Given the description of an element on the screen output the (x, y) to click on. 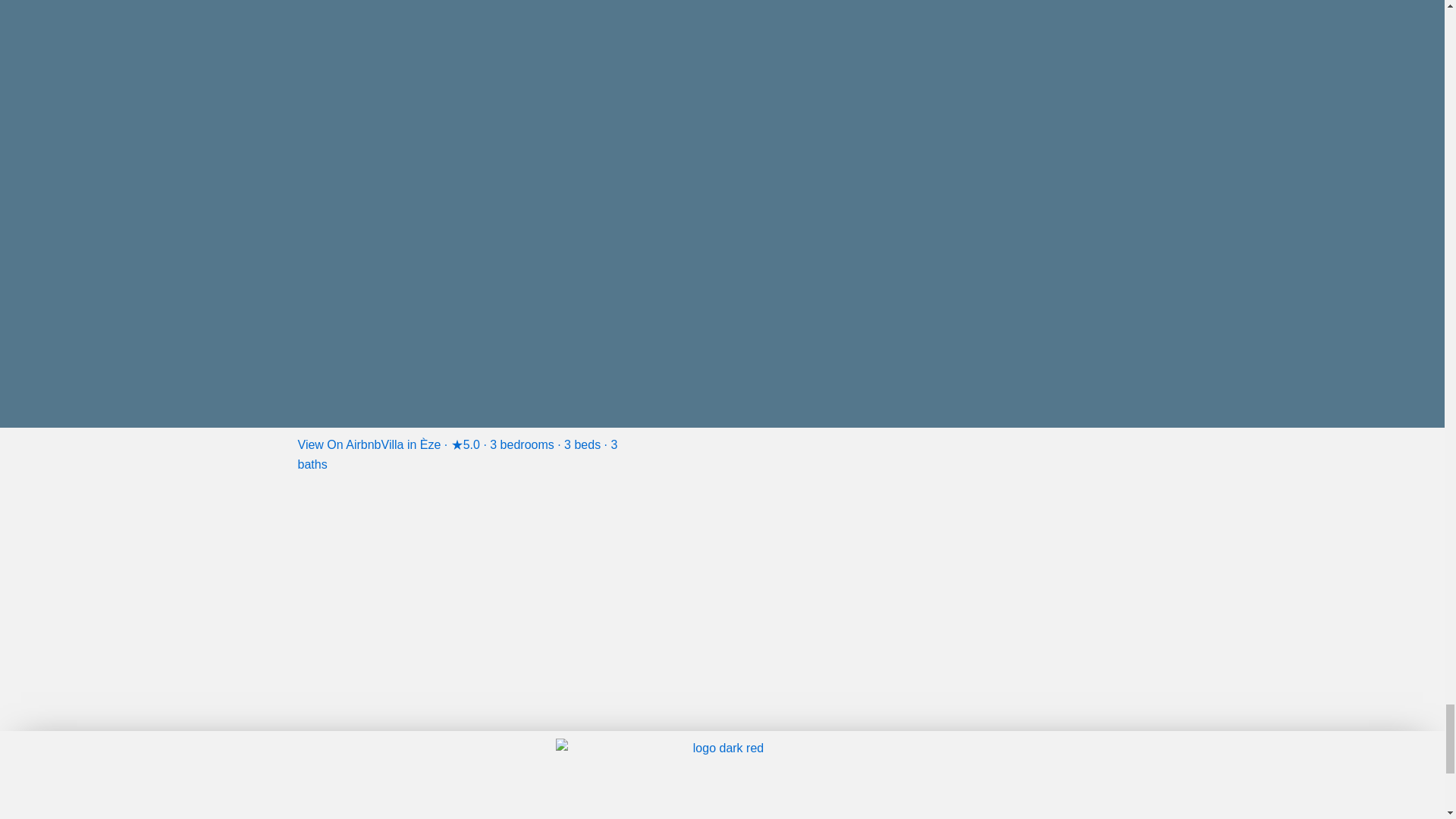
View On Airbnb (338, 444)
